Given the description of an element on the screen output the (x, y) to click on. 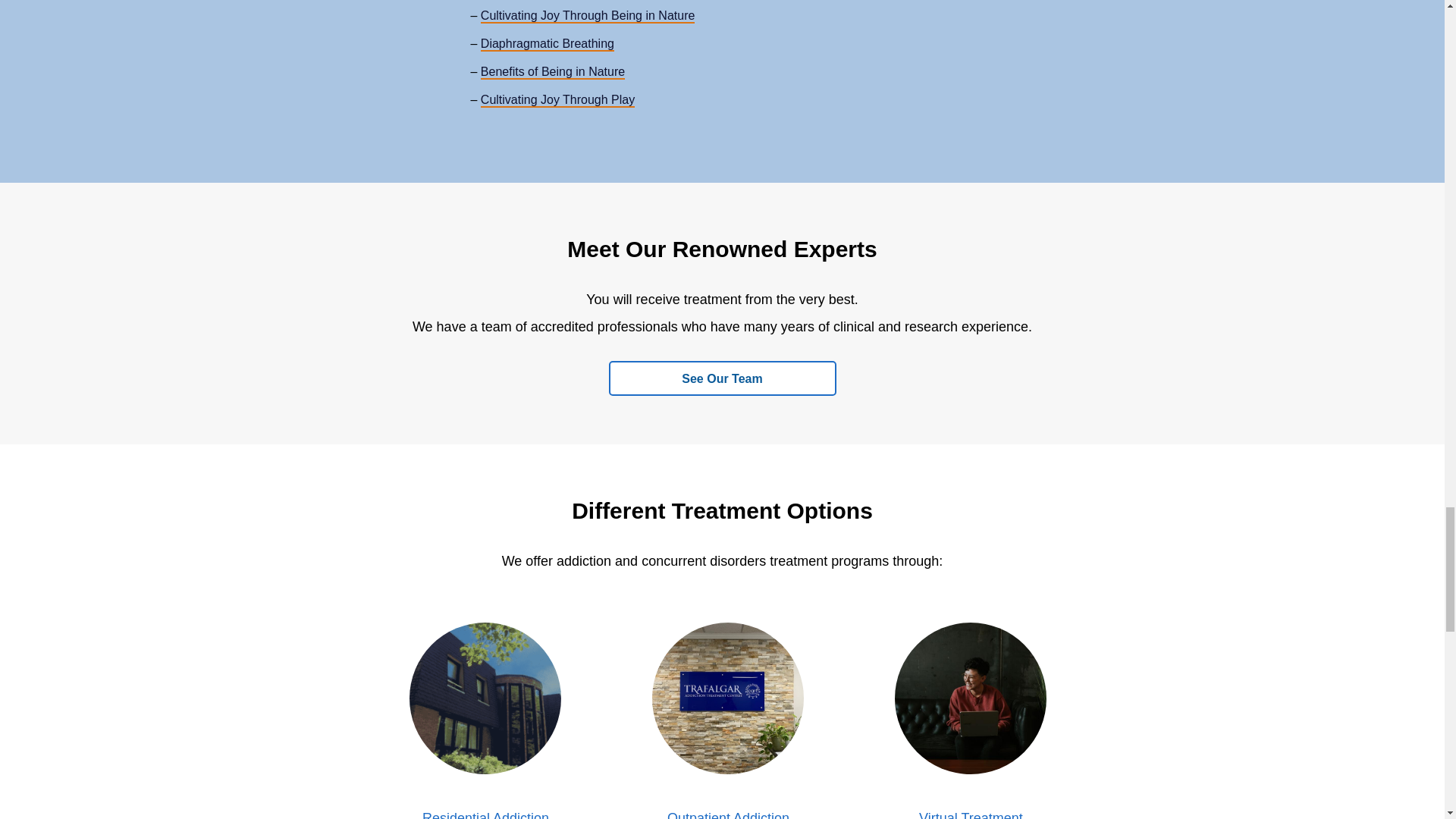
Online Treatment (970, 697)
This is a link to Inpatient Treatment page (485, 814)
This is a link to Our Team Page (721, 378)
This is a link to Virtual Treatment page (970, 814)
This is a link to Outpatient Treatment page (727, 814)
Outpatient Counselling (727, 697)
Residential Treatment (484, 697)
